Given the description of an element on the screen output the (x, y) to click on. 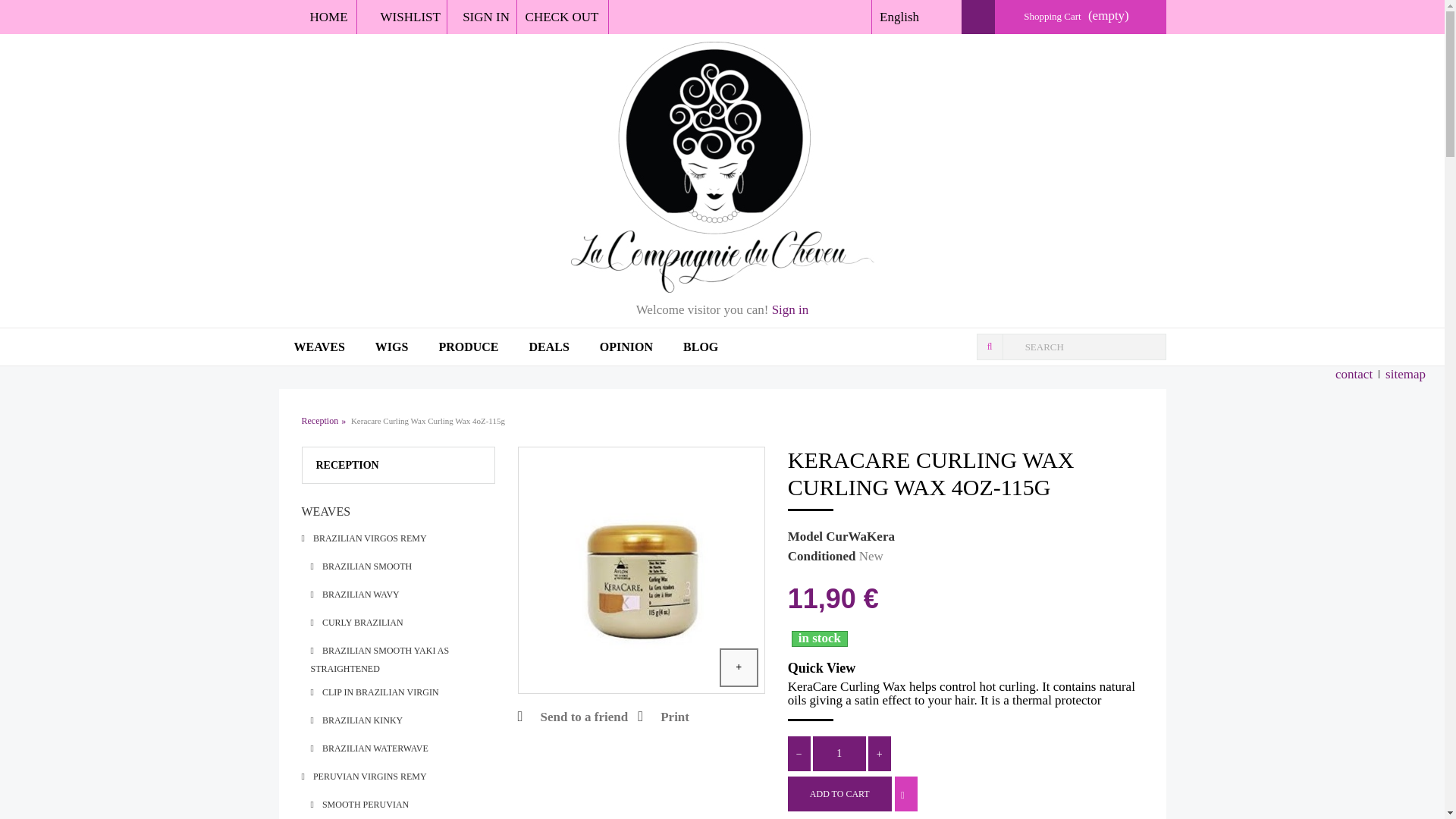
1 (839, 753)
HOME (322, 17)
Sign in (790, 310)
WEAVES (319, 345)
La Compagnie du Cheveu (721, 166)
WISHLIST (401, 17)
Login to your customer account (481, 17)
Check out (562, 17)
La Compagnie du Cheveu (322, 17)
SIGN IN (481, 17)
